Given the description of an element on the screen output the (x, y) to click on. 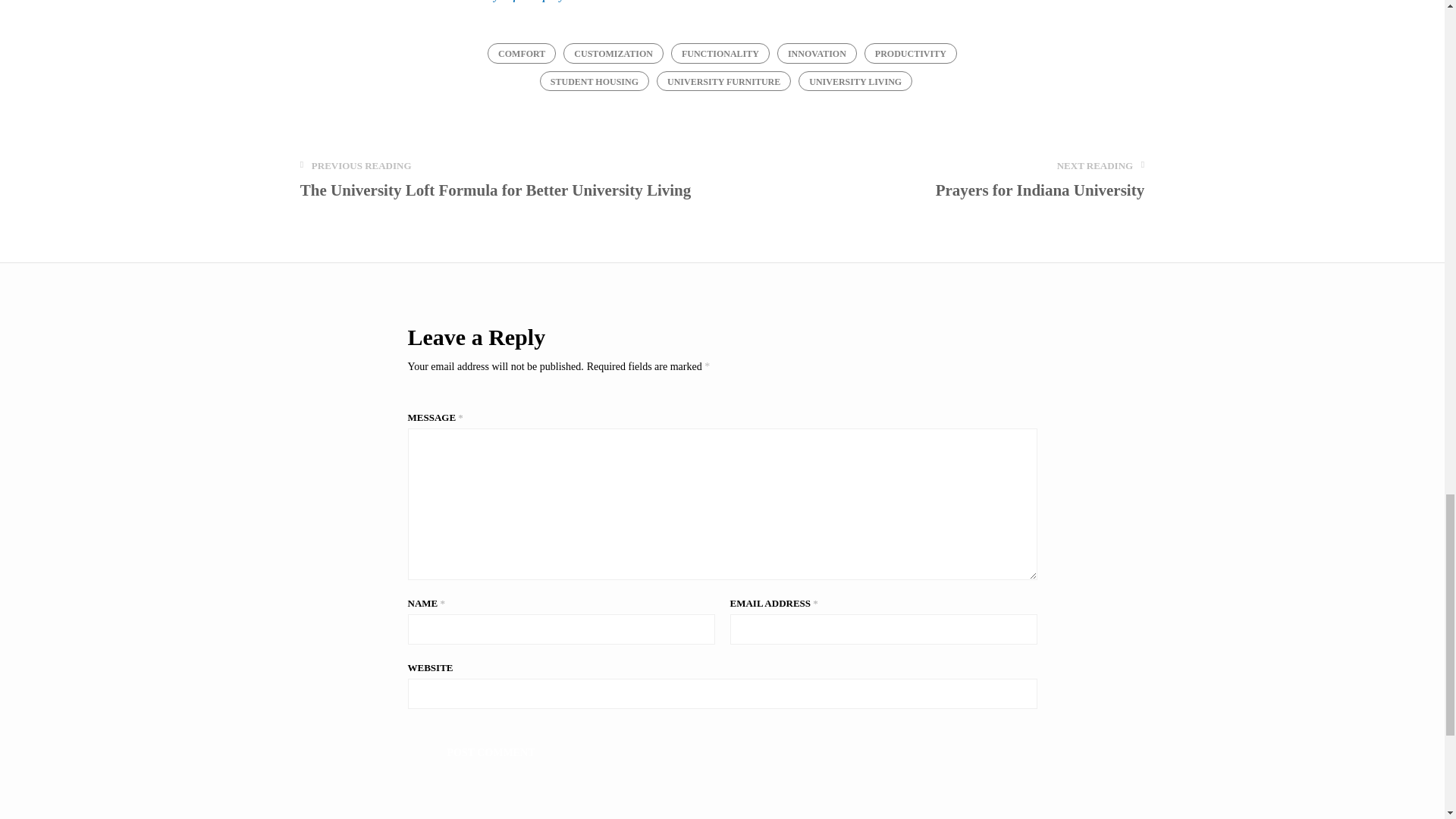
Post Comment (491, 752)
